Given the description of an element on the screen output the (x, y) to click on. 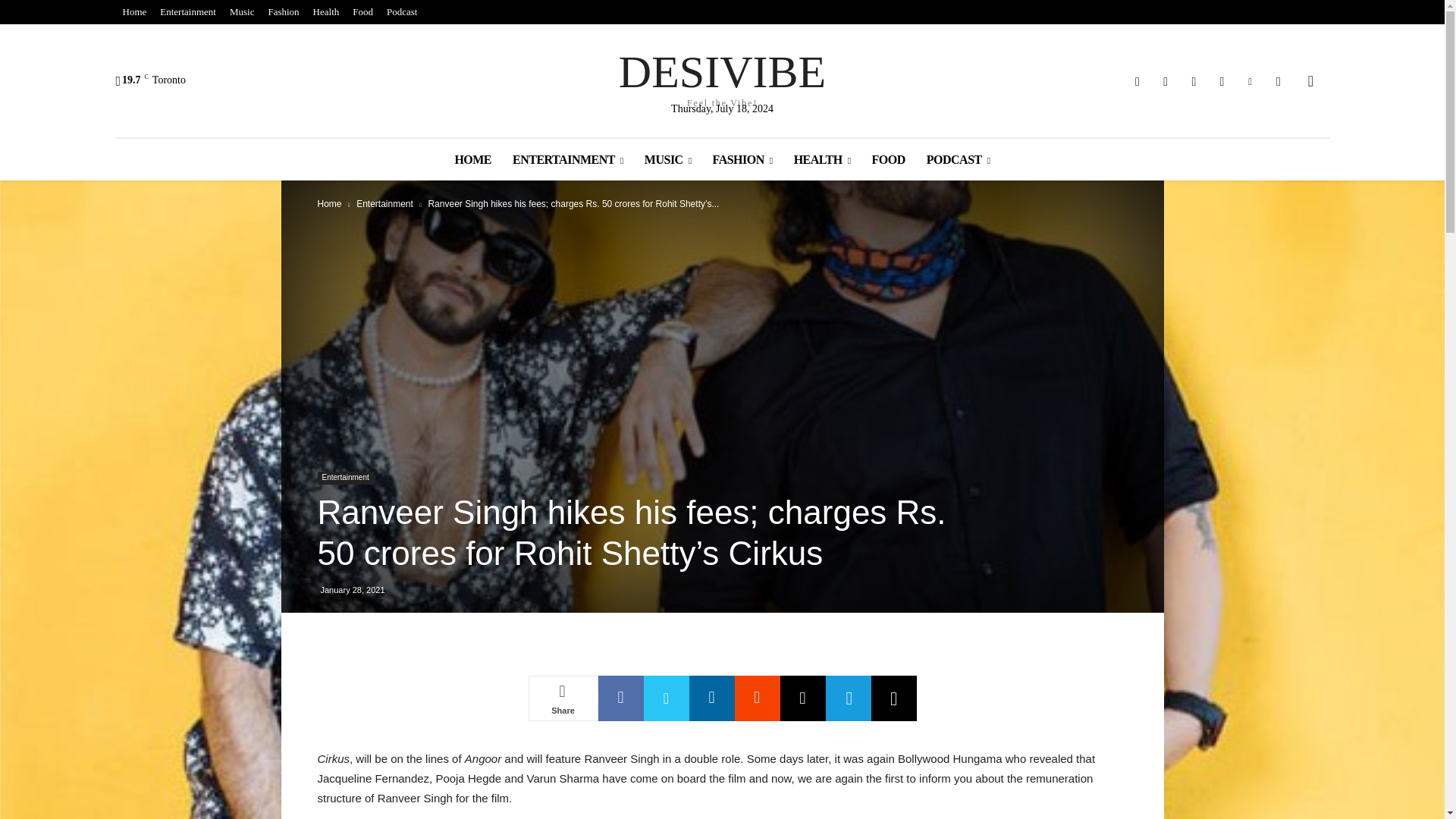
Health (325, 12)
Fashion (282, 12)
Entertainment (187, 12)
Music (242, 12)
Home (722, 76)
Food (133, 12)
Podcast (363, 12)
